Given the description of an element on the screen output the (x, y) to click on. 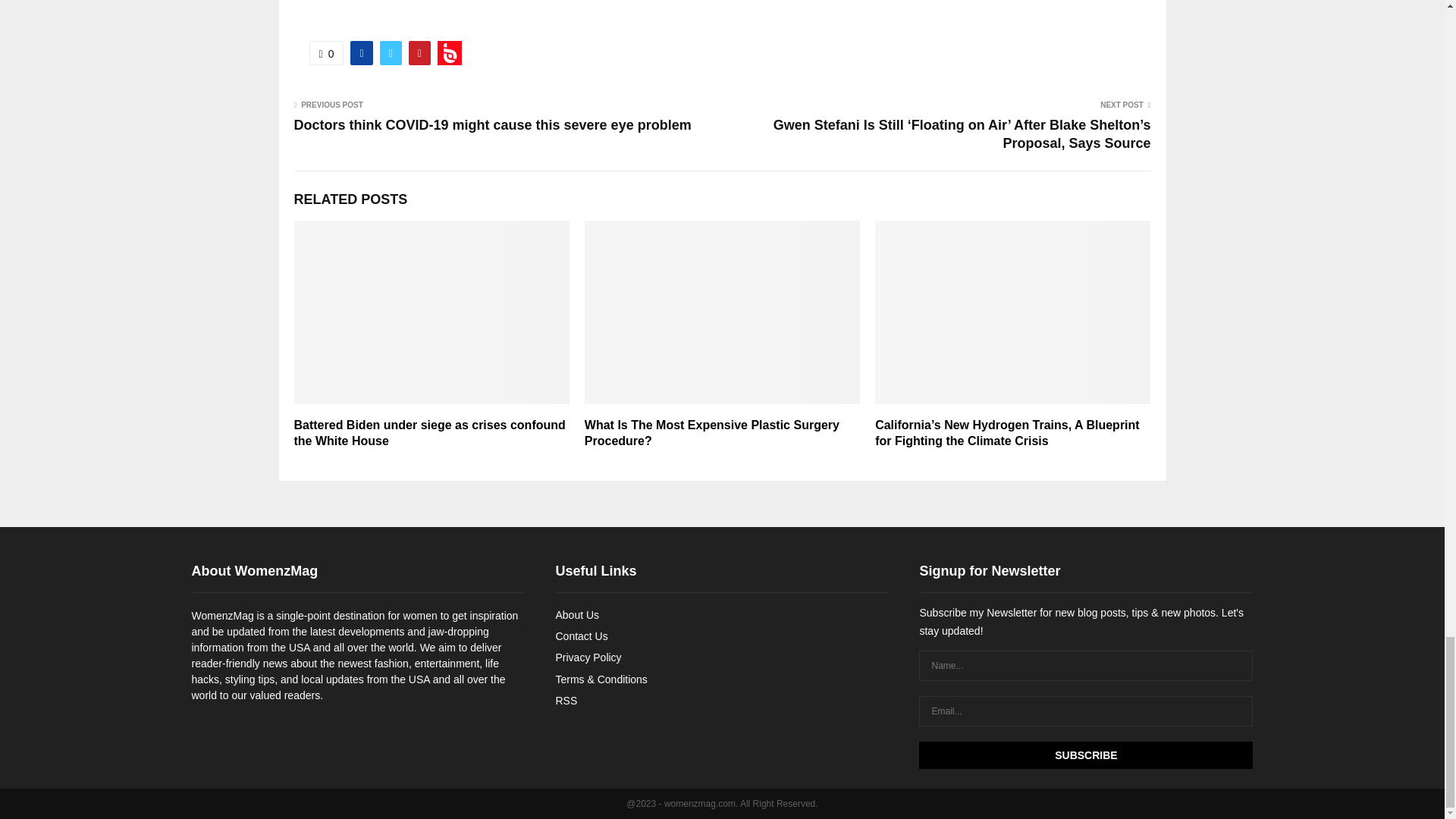
What Is The Most Expensive Plastic Surgery Procedure? (712, 432)
Doctors think COVID-19 might cause this severe eye problem (492, 124)
0 (325, 52)
Like (325, 52)
Subscribe (1085, 755)
